Given the description of an element on the screen output the (x, y) to click on. 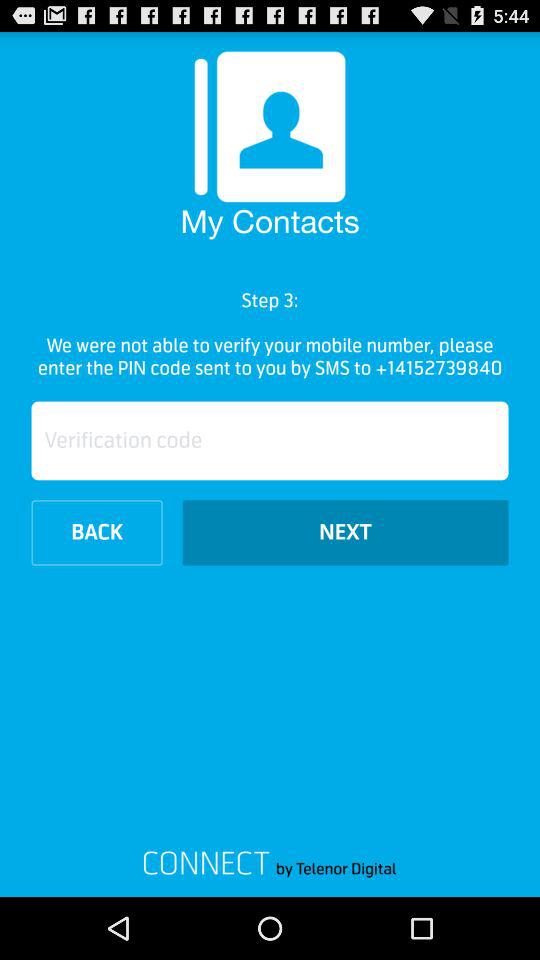
select the next icon (345, 532)
